Given the description of an element on the screen output the (x, y) to click on. 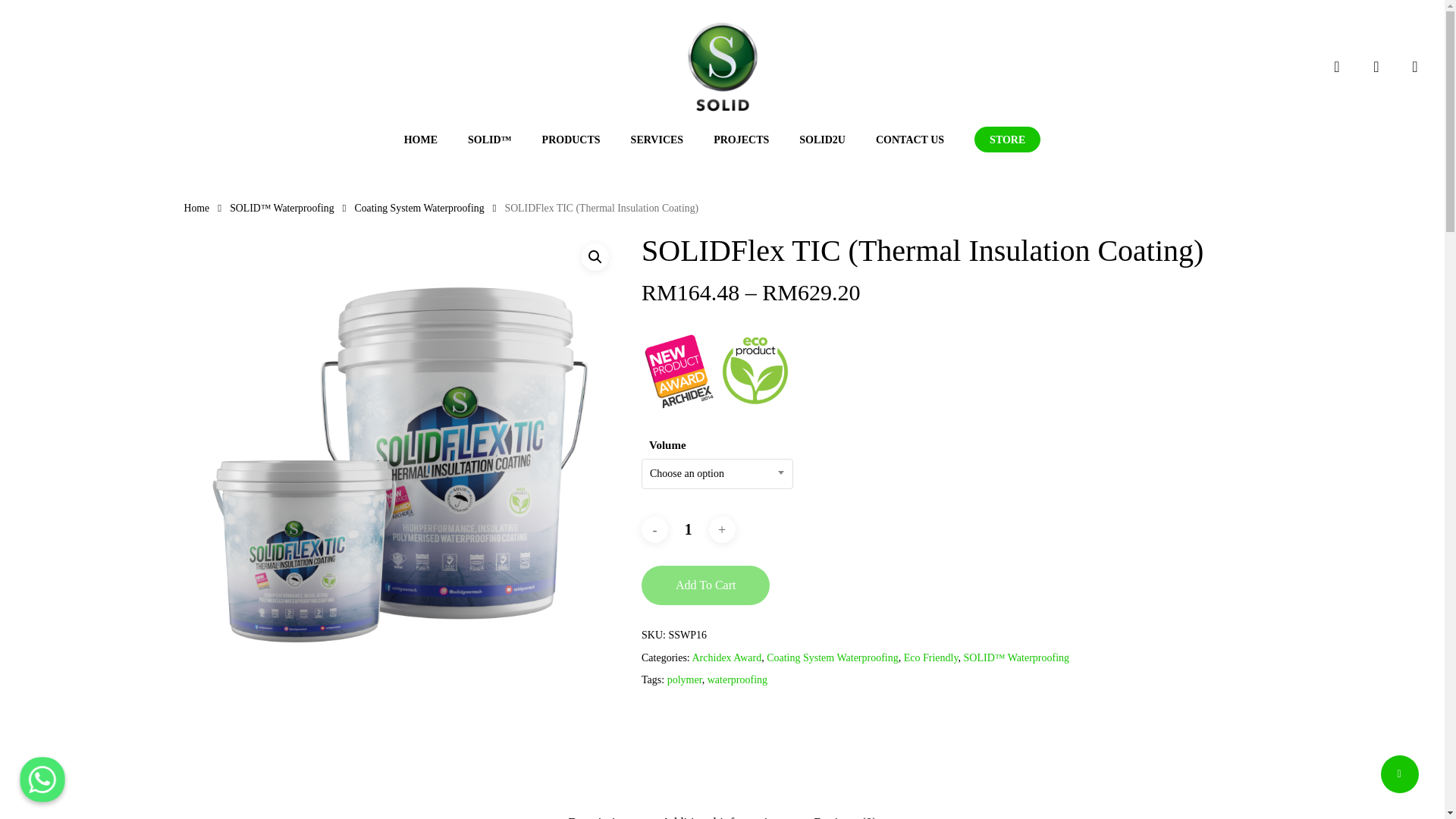
SERVICES (657, 140)
1 (688, 529)
Add To Cart (706, 585)
- (655, 529)
PRODUCTS (570, 140)
Choose an option (717, 473)
Home (196, 207)
Coating System Waterproofing (418, 207)
account (1376, 66)
HOME (421, 140)
search (1336, 66)
CONTACT US (909, 140)
SOLID2U (822, 140)
STORE (1007, 140)
